Given the description of an element on the screen output the (x, y) to click on. 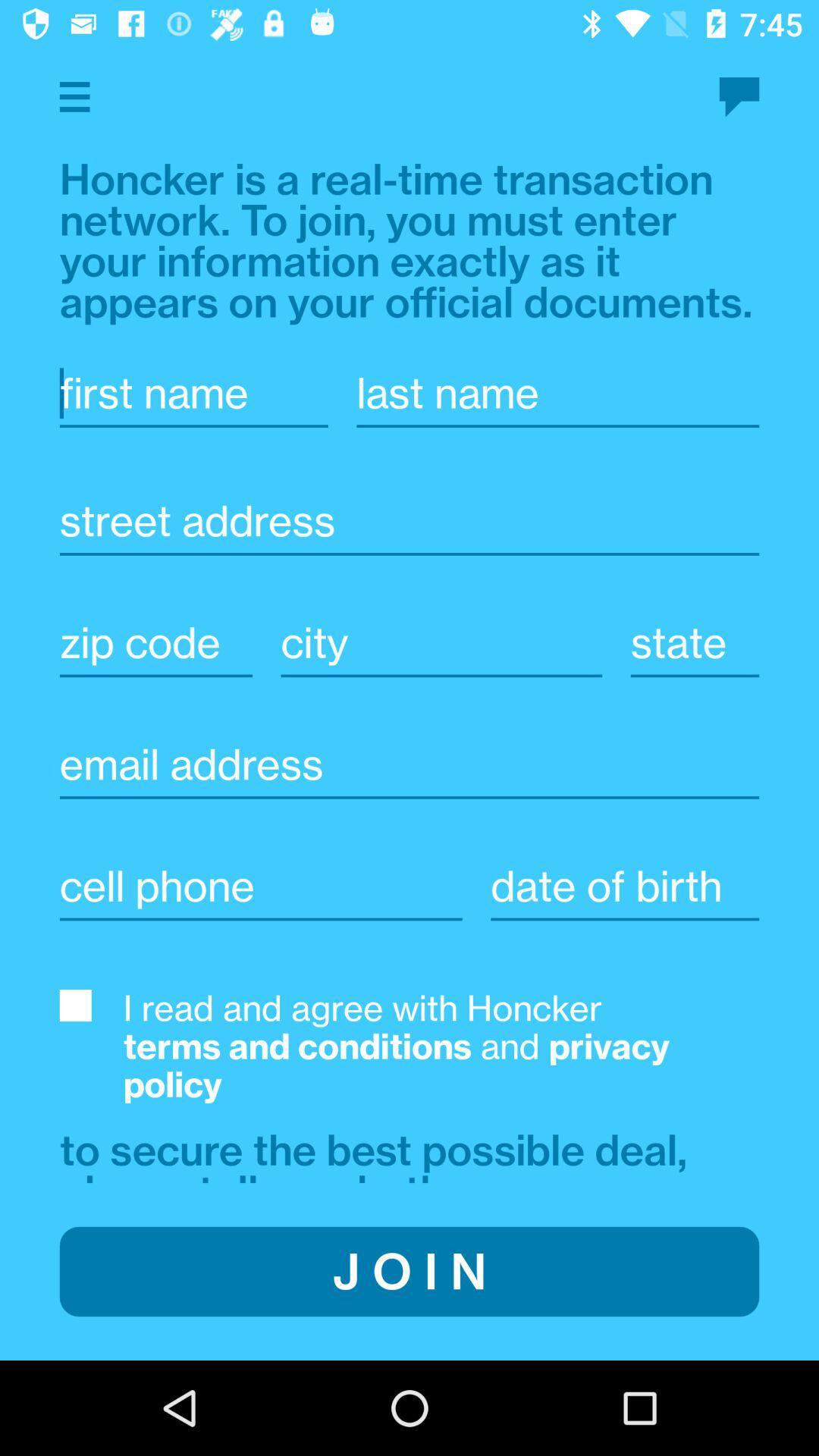
type number (260, 886)
